Given the description of an element on the screen output the (x, y) to click on. 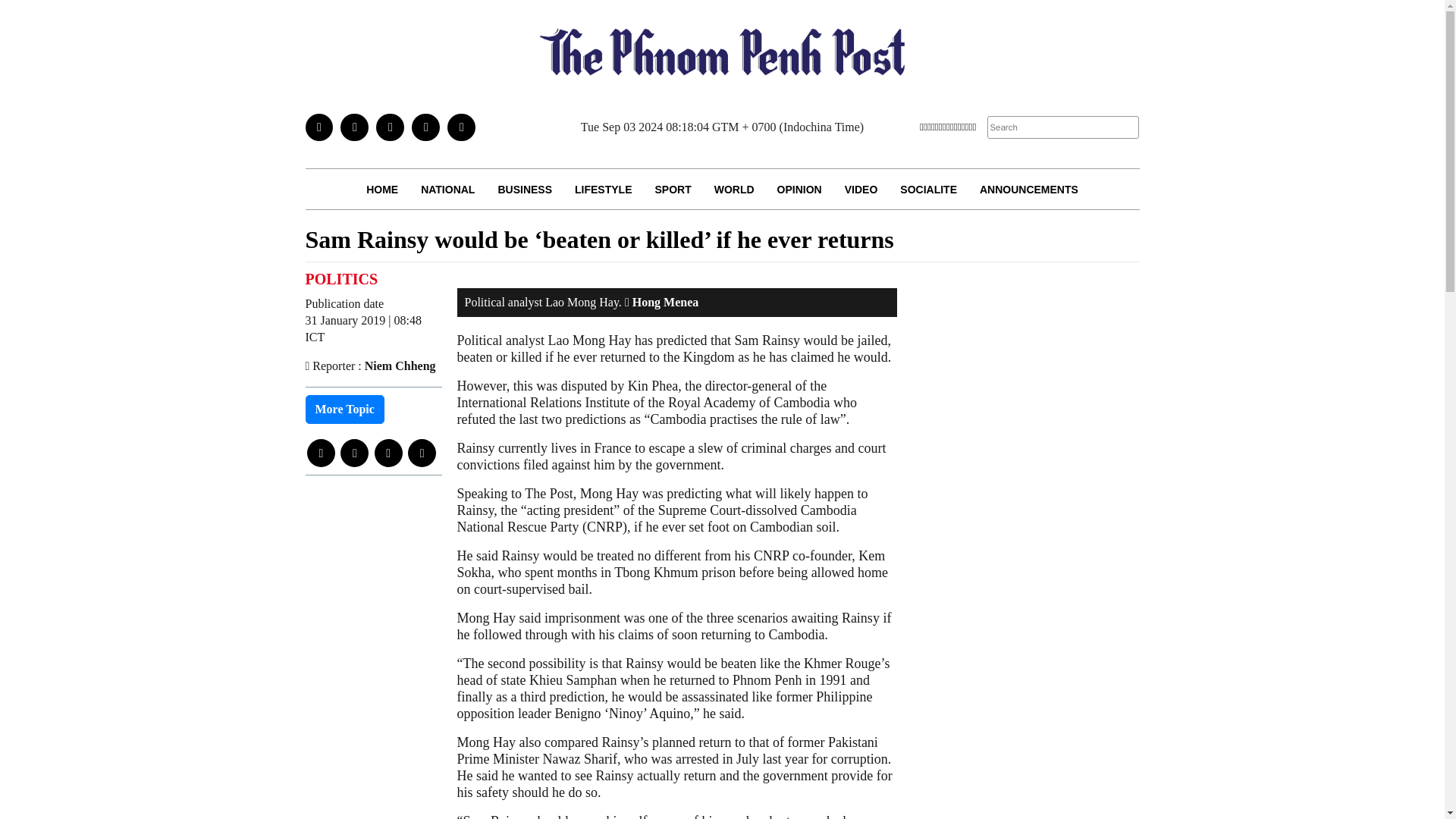
NATIONAL (447, 188)
OPINION (798, 188)
WORLD (734, 188)
ANNOUNCEMENTS (1028, 188)
VIDEO (860, 188)
HOME (382, 188)
More Topic (344, 409)
BUSINESS (524, 188)
SOCIALITE (928, 188)
SPORT (672, 188)
